Given the description of an element on the screen output the (x, y) to click on. 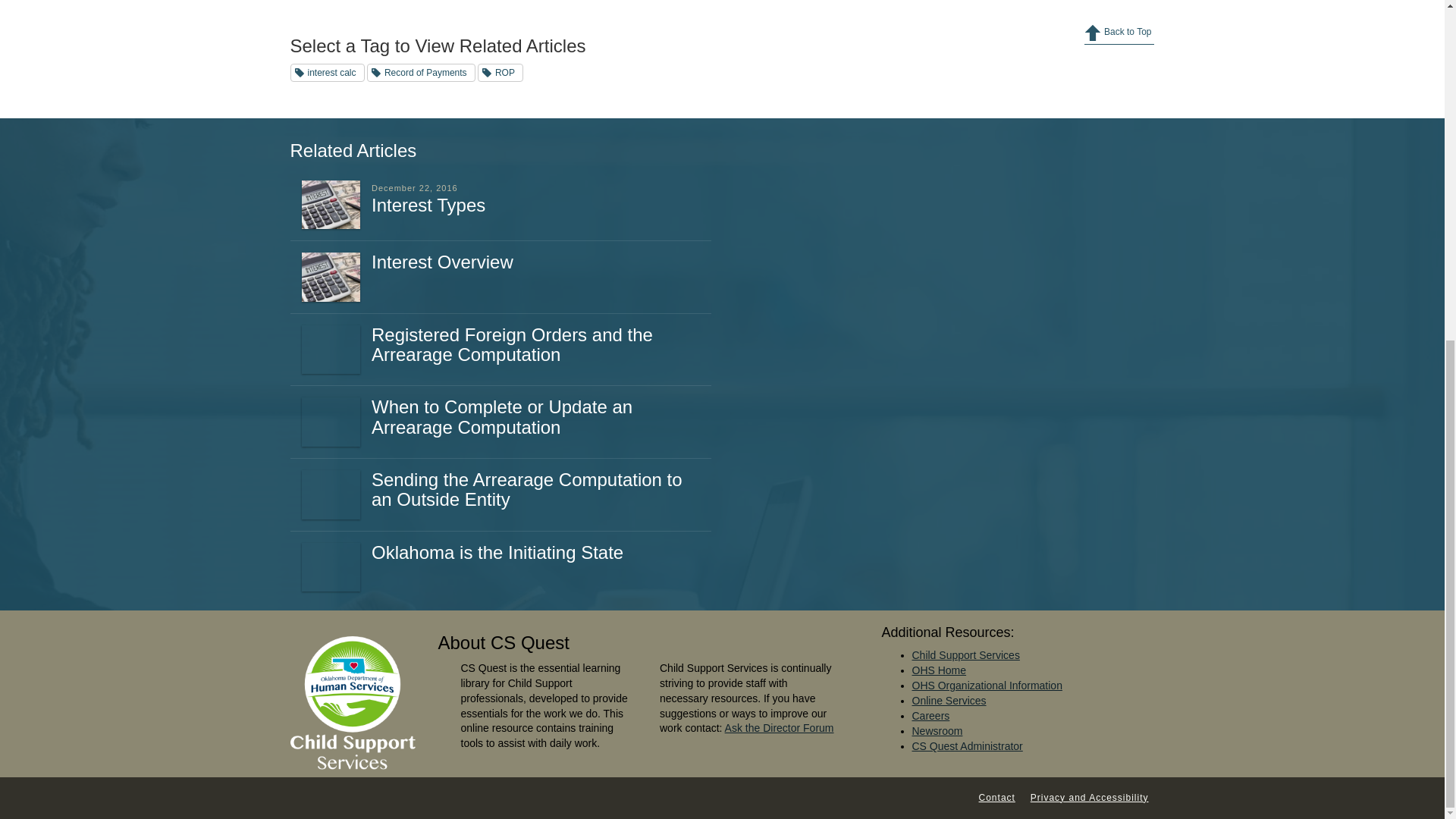
Ask the Director Forum (779, 727)
interest calc (326, 72)
When to Complete or Update an Arrearage Computation (501, 416)
Registered Foreign Orders and the Arrearage Computation (511, 344)
OHS Organizational Information (986, 685)
Interest Types (427, 204)
Child Support Services (965, 654)
Online Services (948, 700)
Contact (997, 797)
Record of Payments (421, 72)
ROP (499, 72)
Careers (930, 715)
Sending the Arrearage Computation to an Outside Entity (526, 489)
Privacy and Accessibility (1089, 797)
Interest Overview (442, 261)
